Given the description of an element on the screen output the (x, y) to click on. 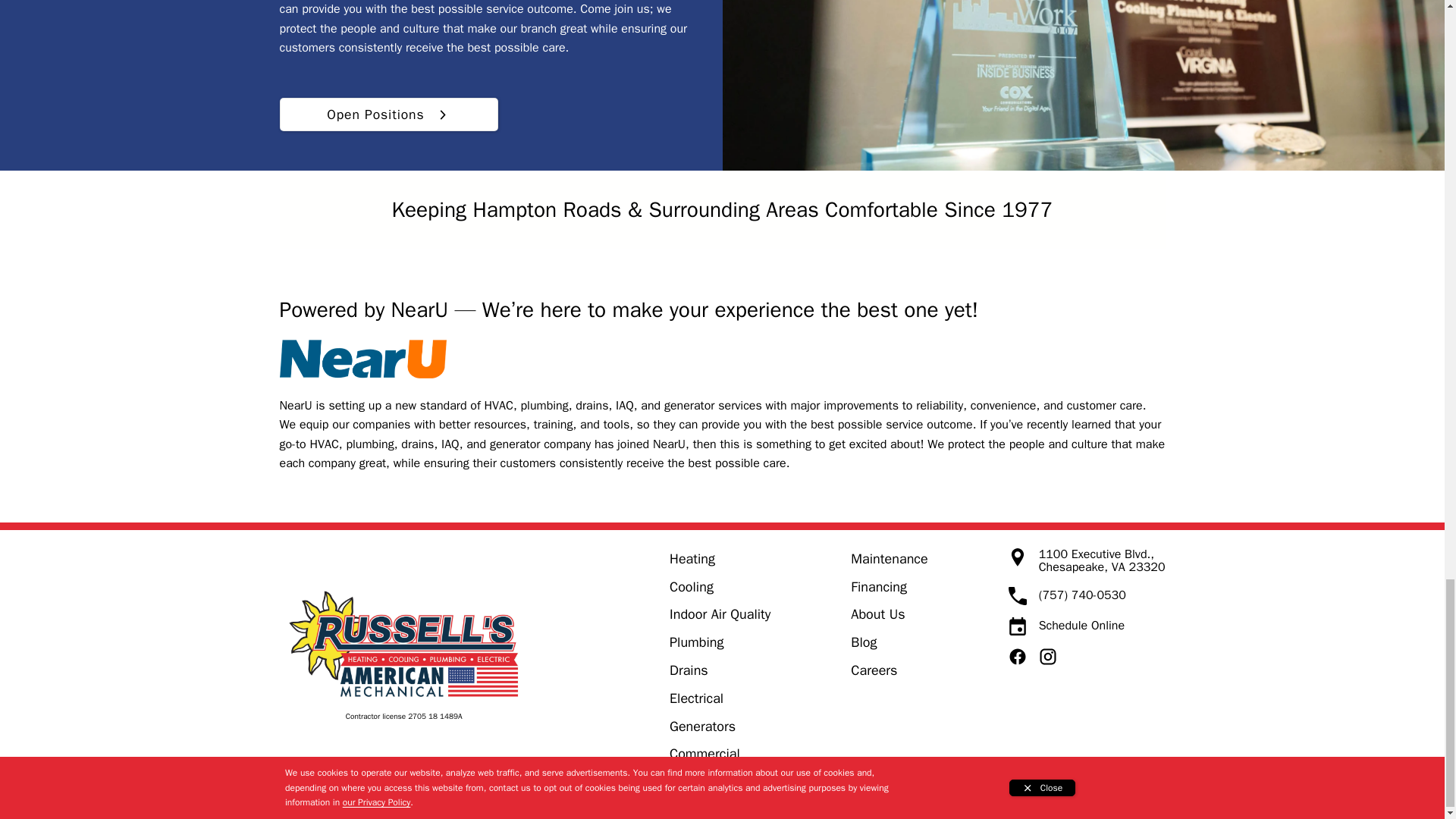
Facebook (1017, 656)
Instagram (1048, 656)
